Given the description of an element on the screen output the (x, y) to click on. 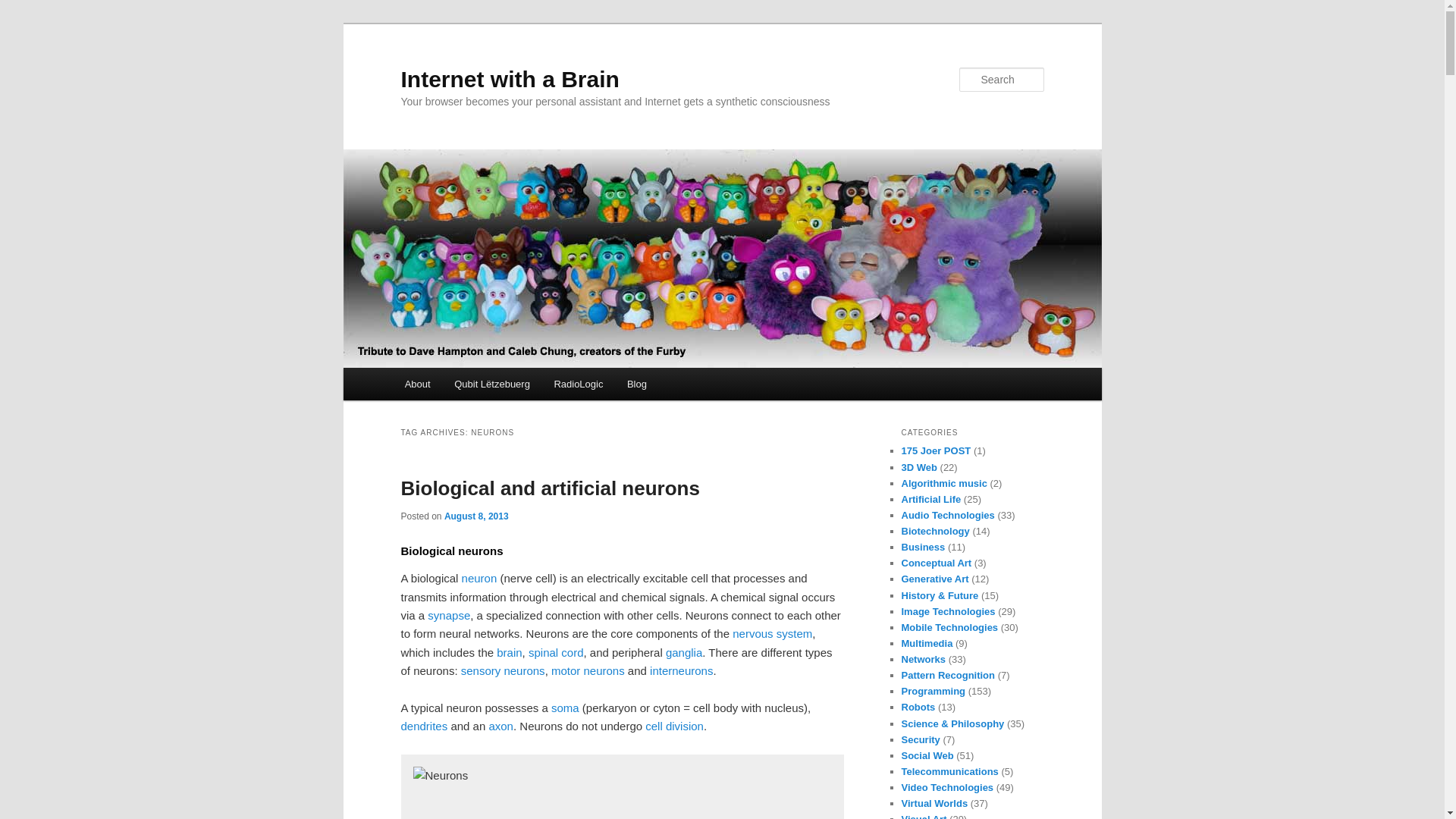
August 8, 2013 (476, 516)
brain (508, 652)
Neuron (479, 577)
motor neurons (587, 670)
About (417, 383)
cell division (674, 725)
Brain (508, 652)
spinal cord (555, 652)
cell division (674, 725)
Ganglia (683, 652)
RadioLogic (578, 383)
soma (565, 707)
sensory neurons (502, 670)
ganglia (683, 652)
Blog (636, 383)
